Given the description of an element on the screen output the (x, y) to click on. 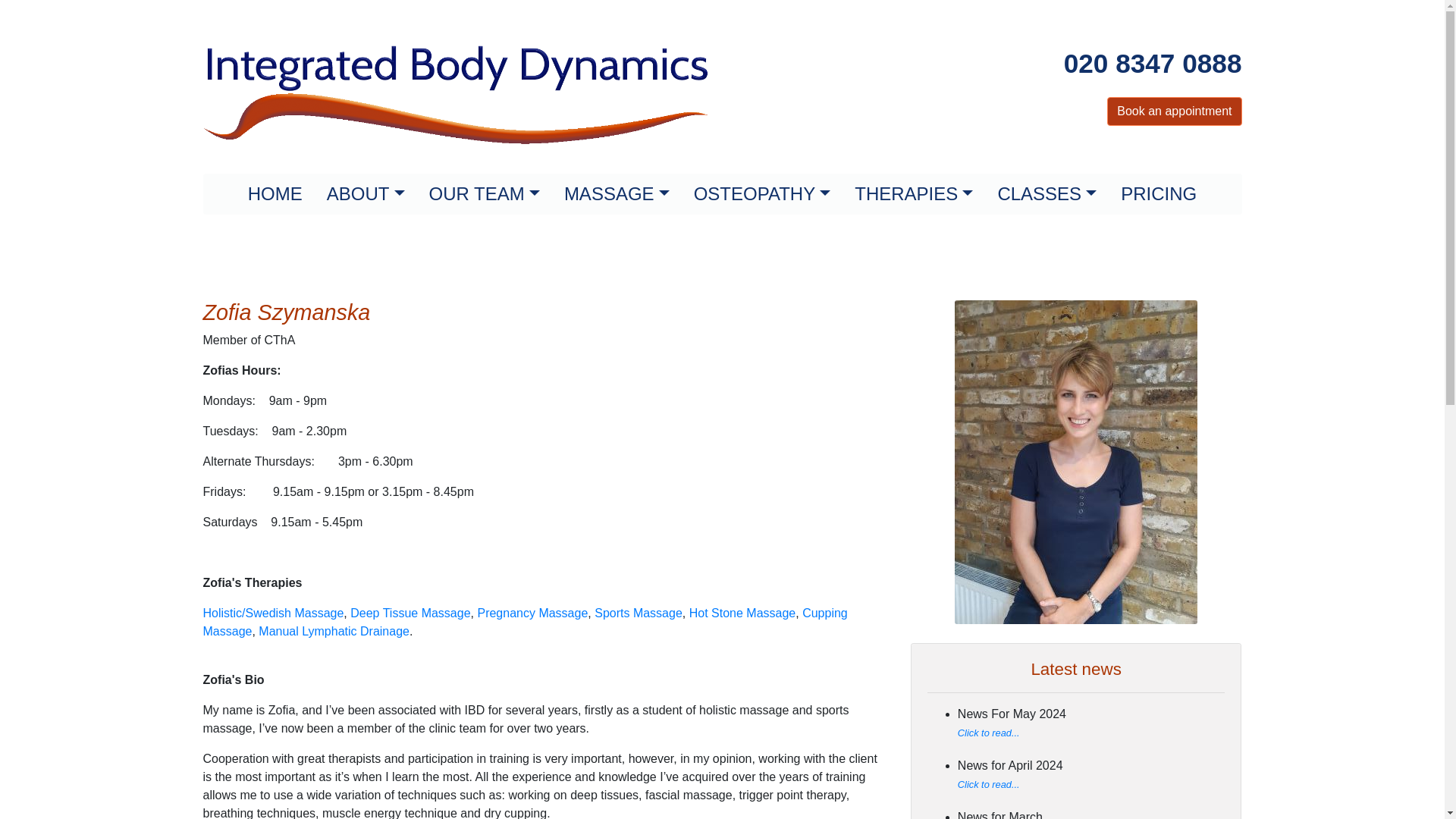
OSTEOPATHY (762, 193)
ABOUT (365, 193)
CLASSES (1046, 193)
HOME (274, 193)
PRICING (1158, 193)
Deep Tissue Massage (410, 612)
Pregnancy Massage (532, 612)
THERAPIES (914, 193)
Sports Massage (638, 612)
MASSAGE (616, 193)
OUR TEAM (483, 193)
Book an appointment (1173, 111)
Hot Stone Massage (742, 612)
